Given the description of an element on the screen output the (x, y) to click on. 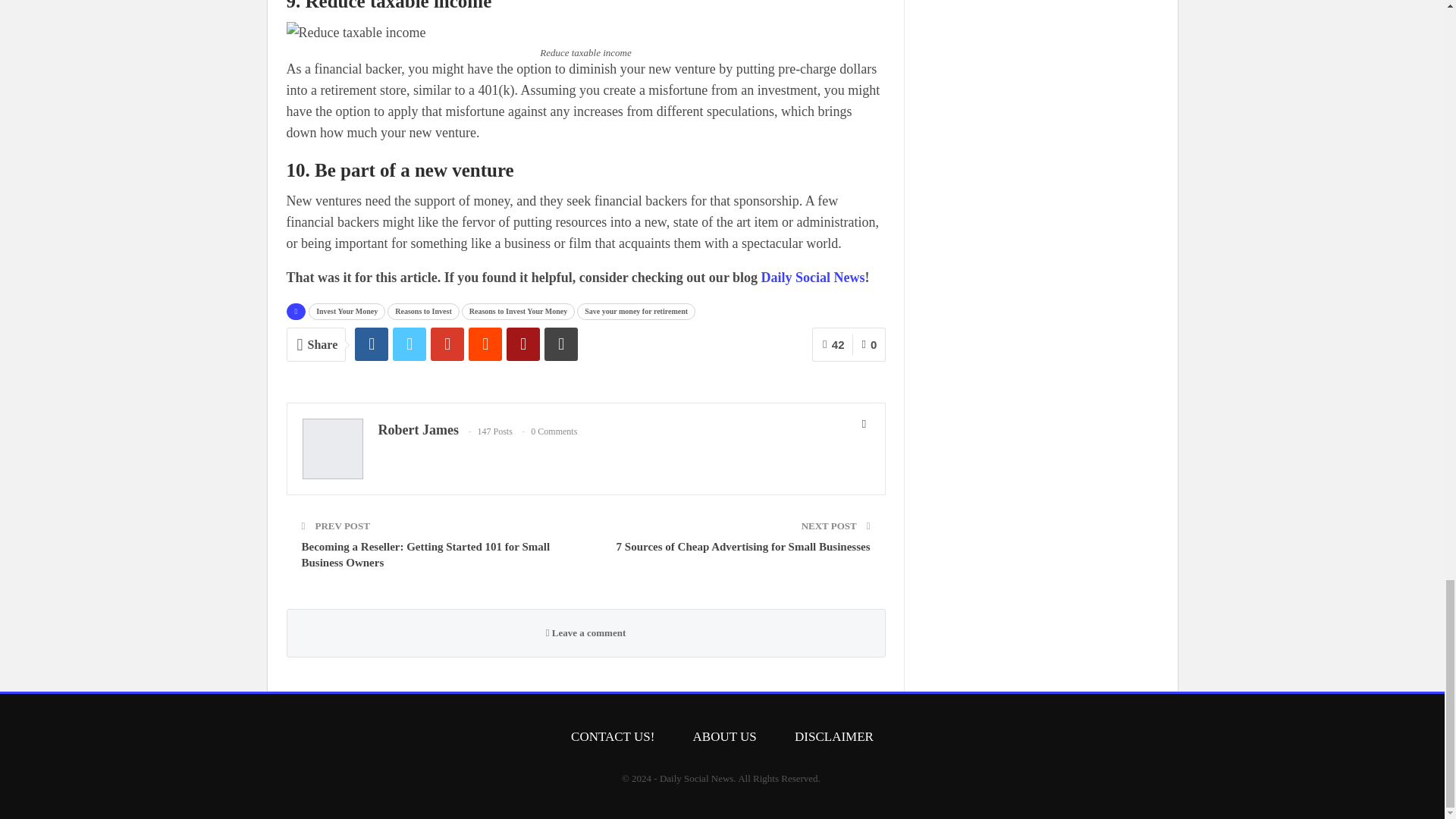
Daily Social News (812, 277)
Reasons to Invest (422, 311)
Invest Your Money (346, 311)
0 (868, 344)
Reasons to Invest Your Money (518, 311)
Save your money for retirement (635, 311)
